Given the description of an element on the screen output the (x, y) to click on. 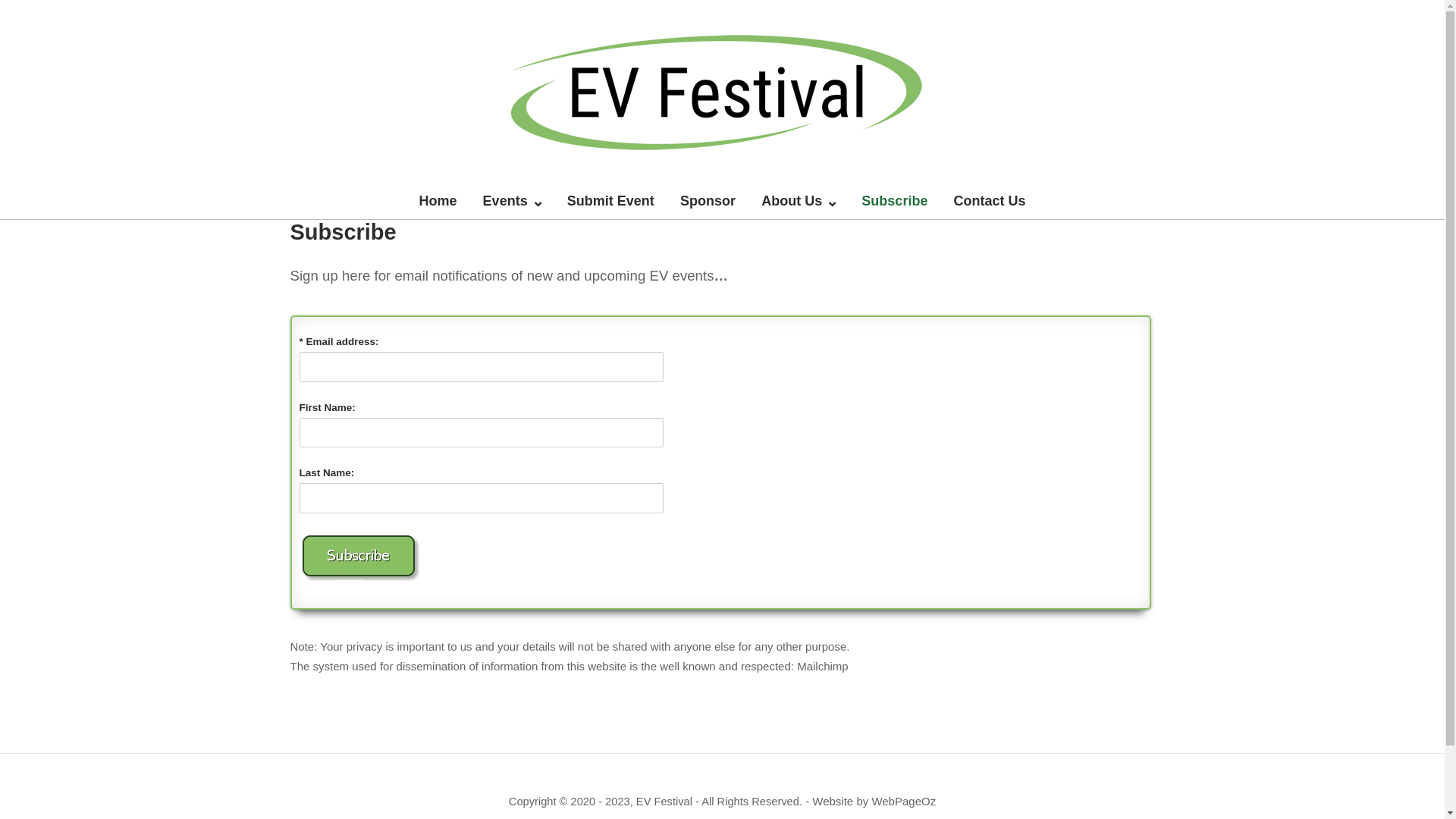
About Us Element type: text (798, 201)
Home Element type: text (437, 201)
Home Element type: text (721, 90)
Contact Us Element type: text (989, 201)
Subscribe Element type: text (894, 201)
Events Element type: text (512, 201)
Submit Event Element type: text (610, 201)
Sponsor Element type: text (707, 201)
WebPageOz Element type: text (903, 800)
